Given the description of an element on the screen output the (x, y) to click on. 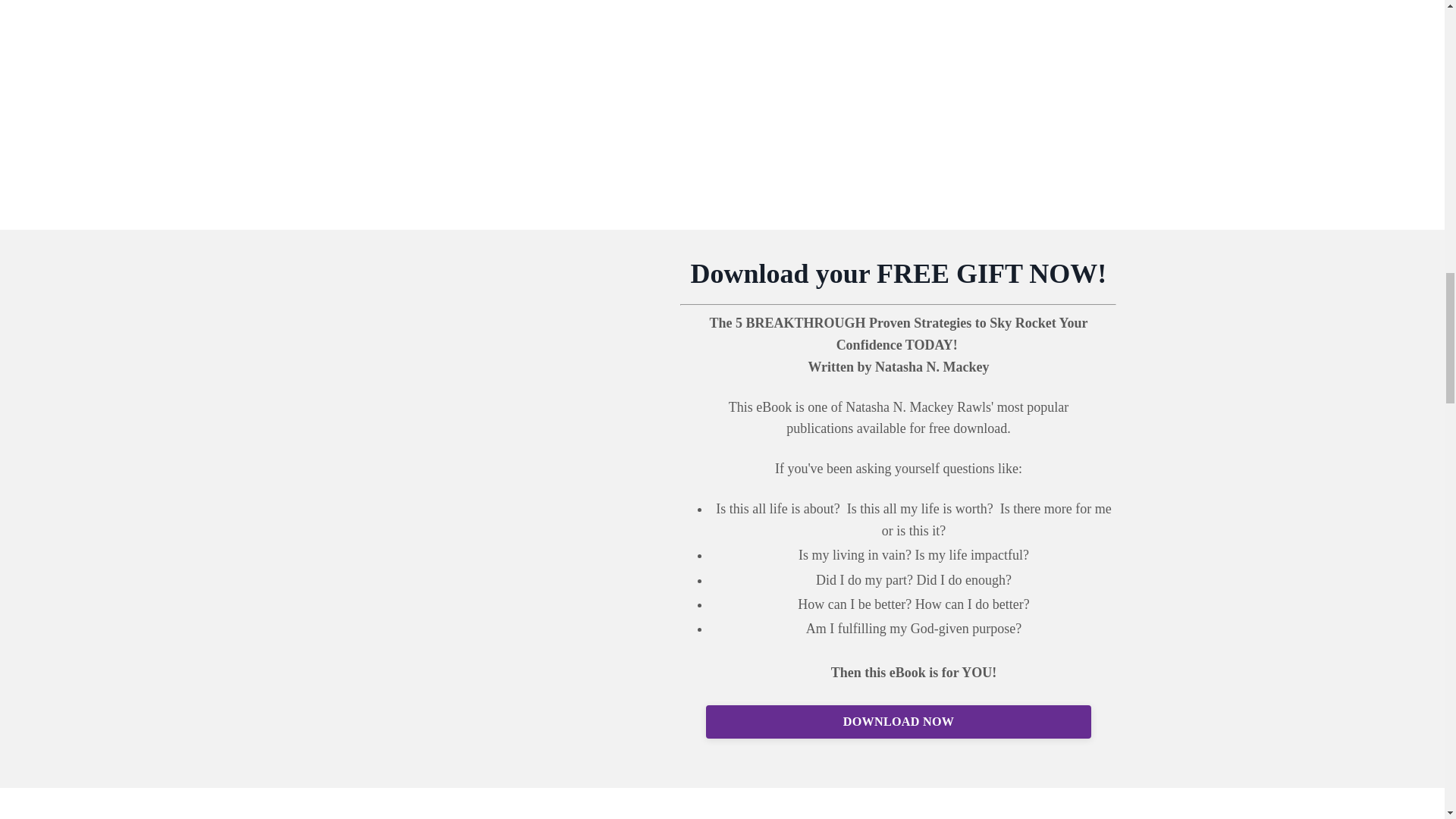
DOWNLOAD NOW (898, 721)
